Given the description of an element on the screen output the (x, y) to click on. 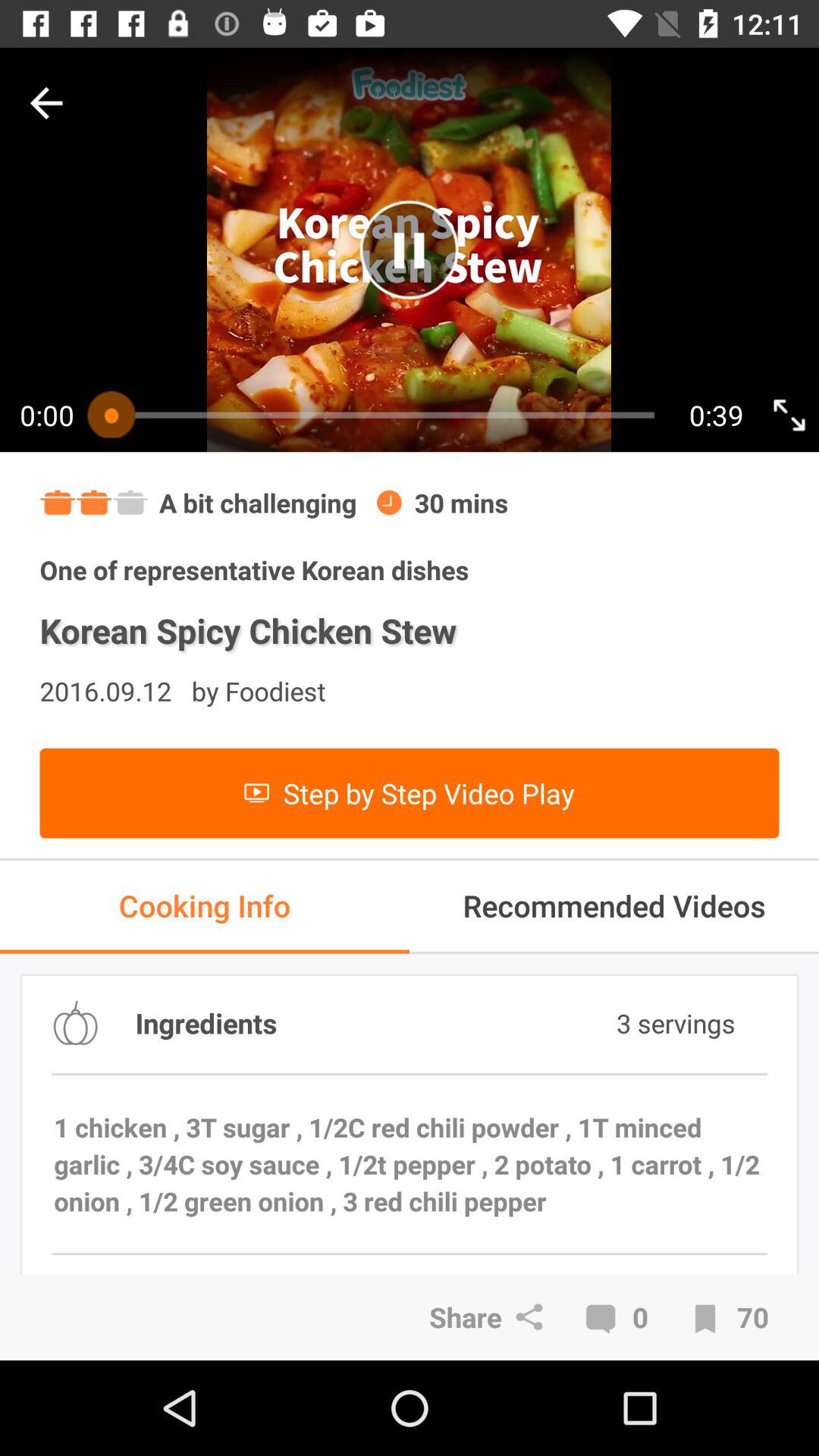
make fullscreen (789, 414)
